Given the description of an element on the screen output the (x, y) to click on. 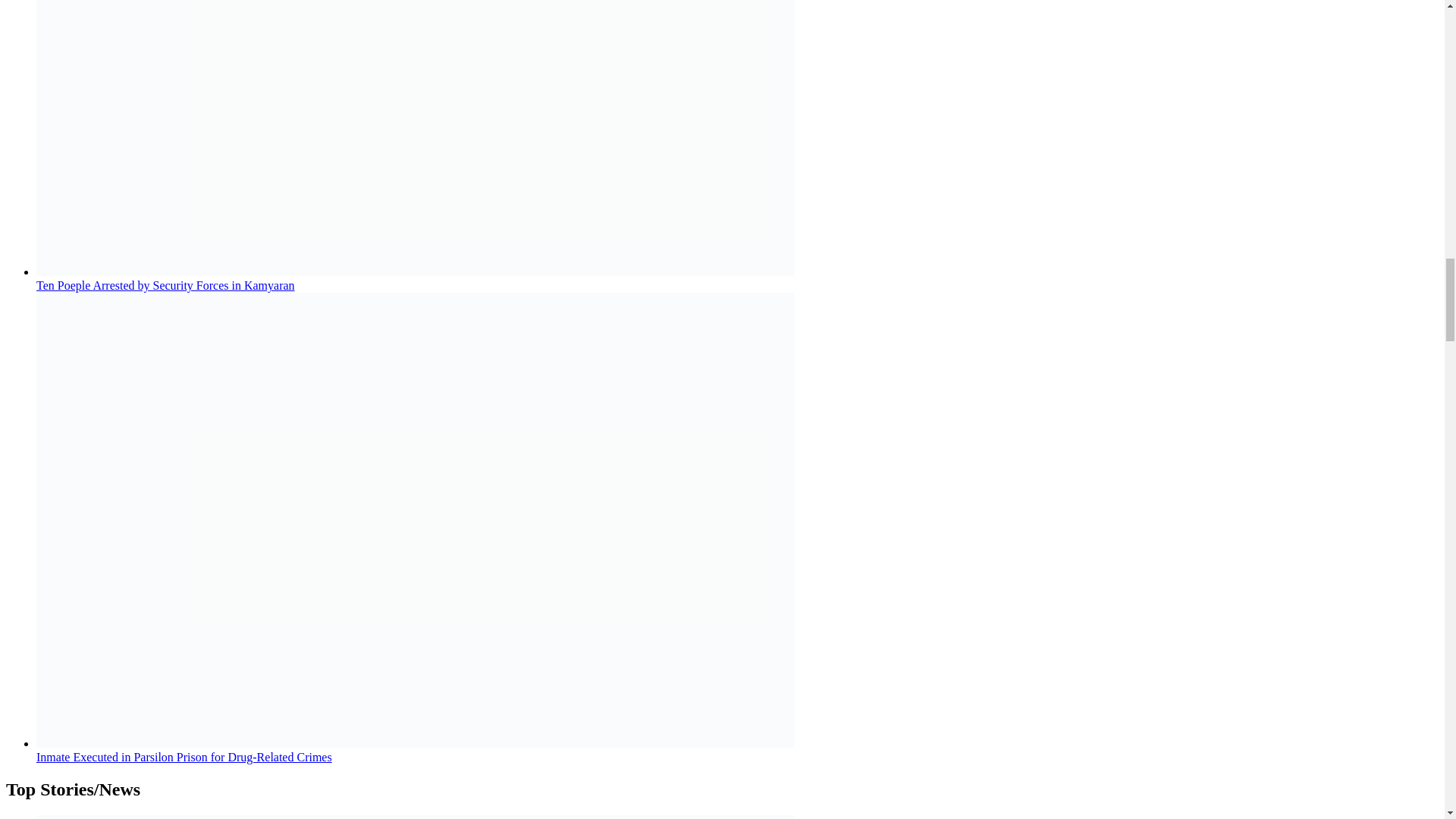
Inmate Executed in Parsilon Prison for Drug-Related Crimes (183, 757)
Ten Poeple Arrested by Security Forces in Kamyaran (165, 285)
